Given the description of an element on the screen output the (x, y) to click on. 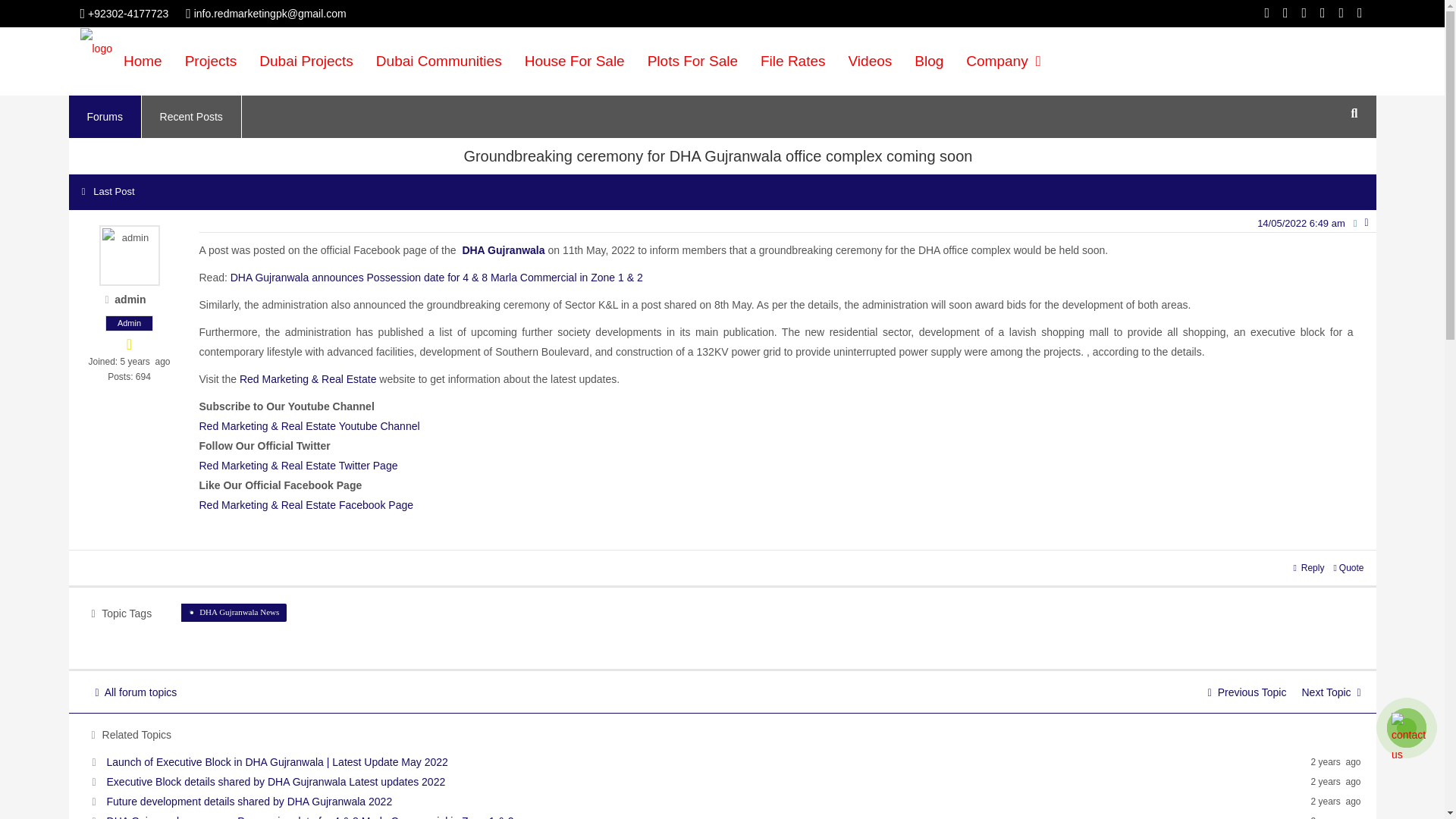
File Rates (793, 61)
Projects (210, 61)
Videos (870, 61)
Usergroup (128, 323)
Plots For Sale (692, 61)
Company (1003, 61)
Dubai Communities (439, 61)
House For Sale (574, 61)
Future development details shared by DHA Gujranwala 2022 (249, 801)
